Given the description of an element on the screen output the (x, y) to click on. 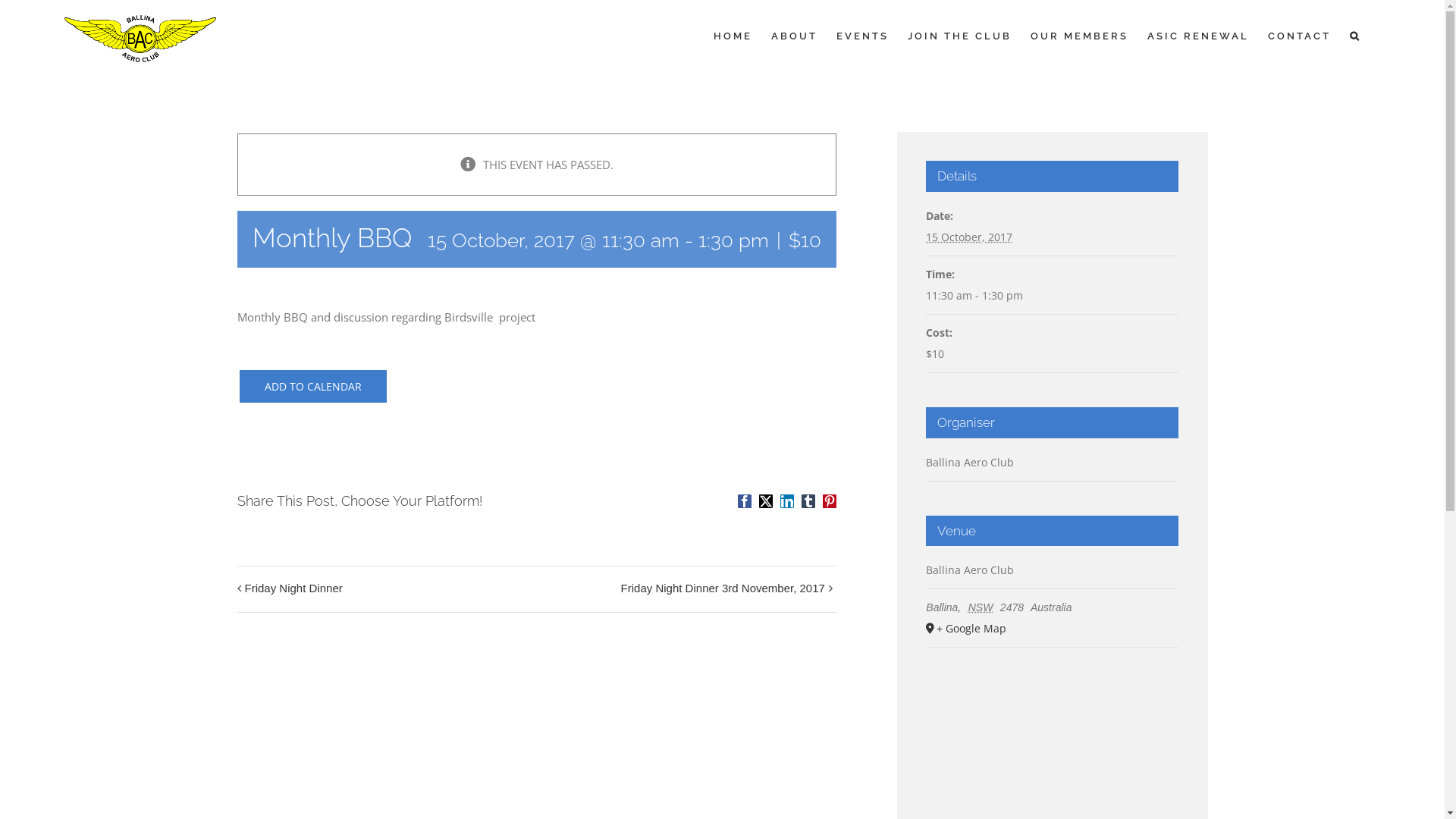
JOIN THE CLUB Element type: text (959, 35)
Friday Night Dinner Element type: text (297, 588)
Search Element type: hover (1355, 35)
Twitter Element type: text (765, 501)
+ Google Map Element type: text (1050, 628)
ADD TO CALENDAR Element type: text (311, 385)
CONTACT Element type: text (1298, 35)
Pinterest Element type: text (829, 501)
Facebook Element type: text (744, 501)
LinkedIn Element type: text (786, 501)
Friday Night Dinner 3rd November, 2017 Element type: text (718, 588)
Tumblr Element type: text (808, 501)
EVENTS Element type: text (862, 35)
ABOUT Element type: text (794, 35)
OUR MEMBERS Element type: text (1079, 35)
ASIC RENEWAL Element type: text (1197, 35)
HOME Element type: text (732, 35)
